Given the description of an element on the screen output the (x, y) to click on. 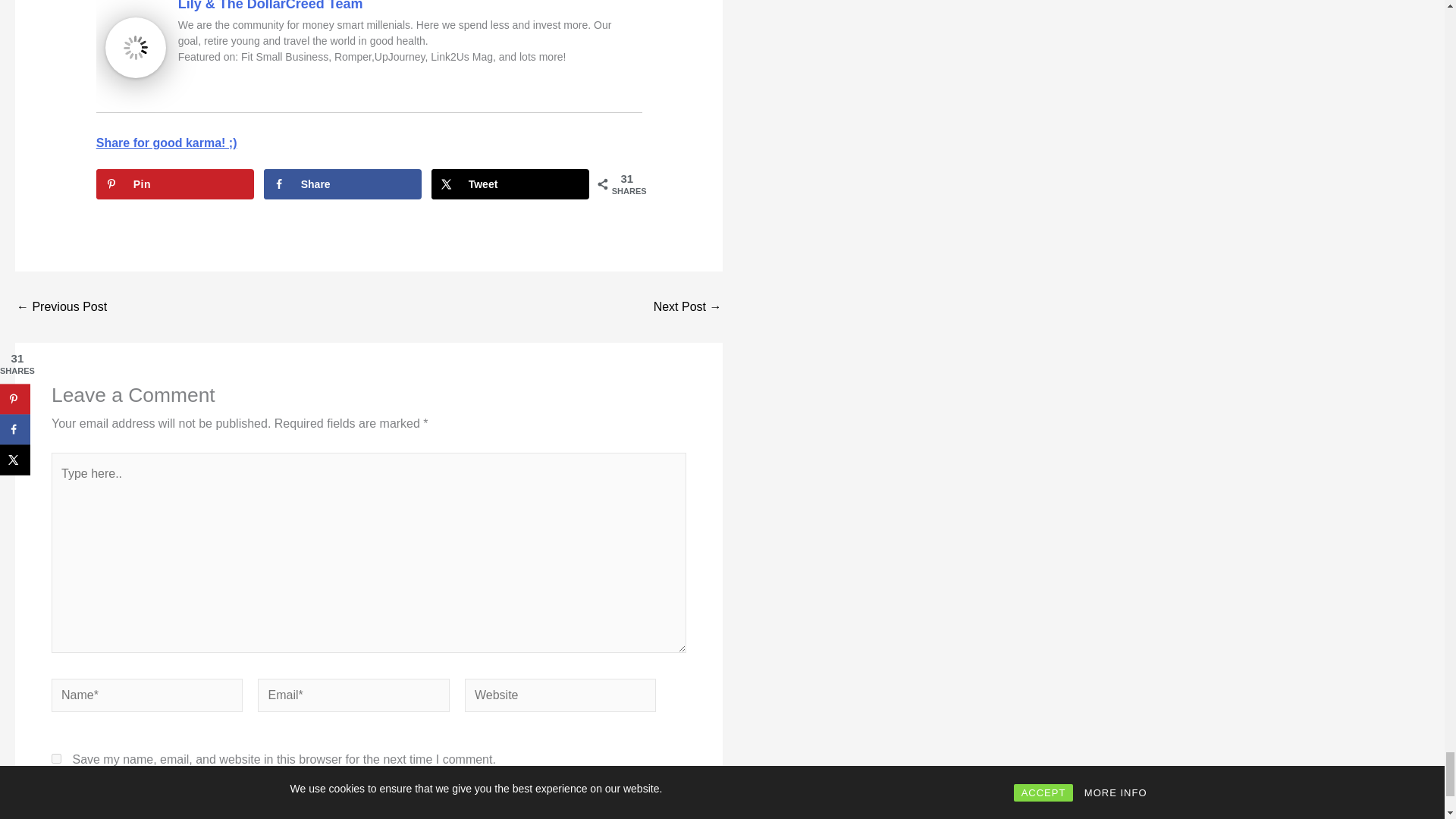
I Need Money Desperately; 16 Legit Ways To Make Fast Cash (687, 306)
Share on Facebook (342, 183)
Share on X (509, 183)
yes (55, 758)
Save to Pinterest (174, 183)
